Given the description of an element on the screen output the (x, y) to click on. 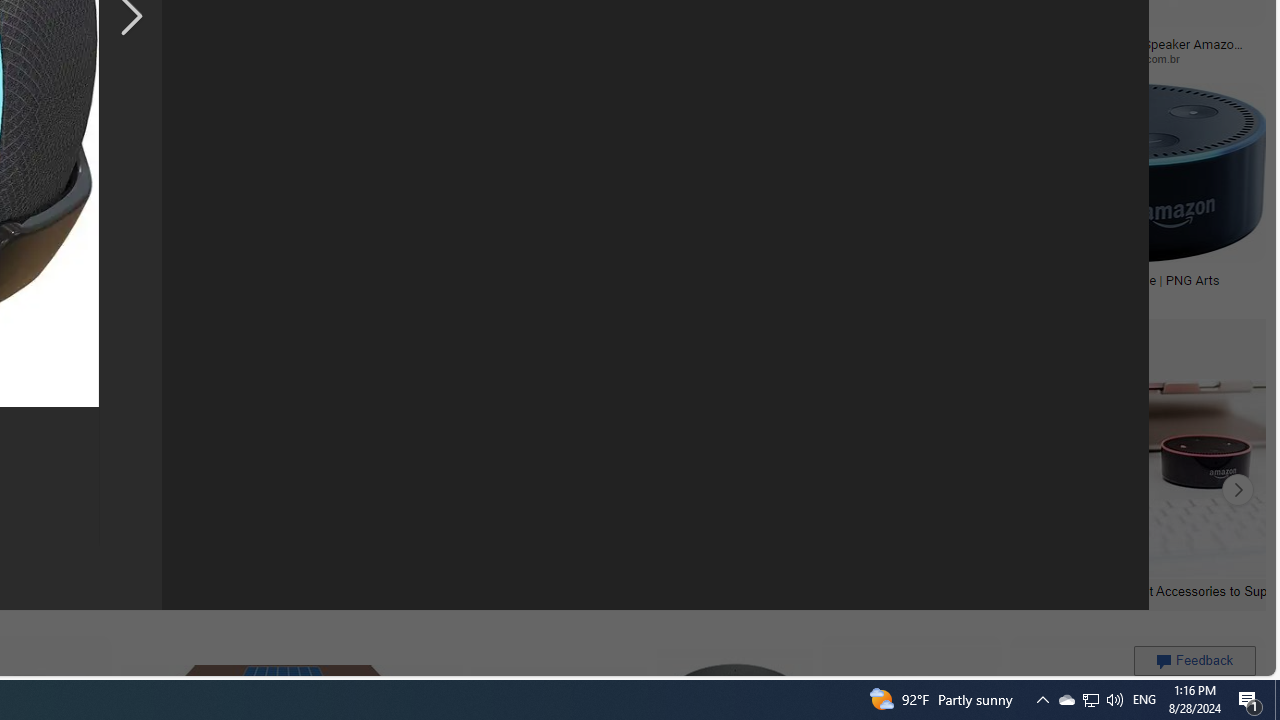
Alexa Dot Transparent Image | PNG Arts (1104, 279)
pngarts.com (1026, 294)
Image result for Amazon Echo Dot PNG (1122, 172)
Echo Dot Accessories Echo Dot Accessories (175, 489)
pngkey.com (258, 58)
Amazonecho Dot With Alexa (Gen 4)pnghq.comSave (840, 196)
pnghq.com (741, 294)
